Given the description of an element on the screen output the (x, y) to click on. 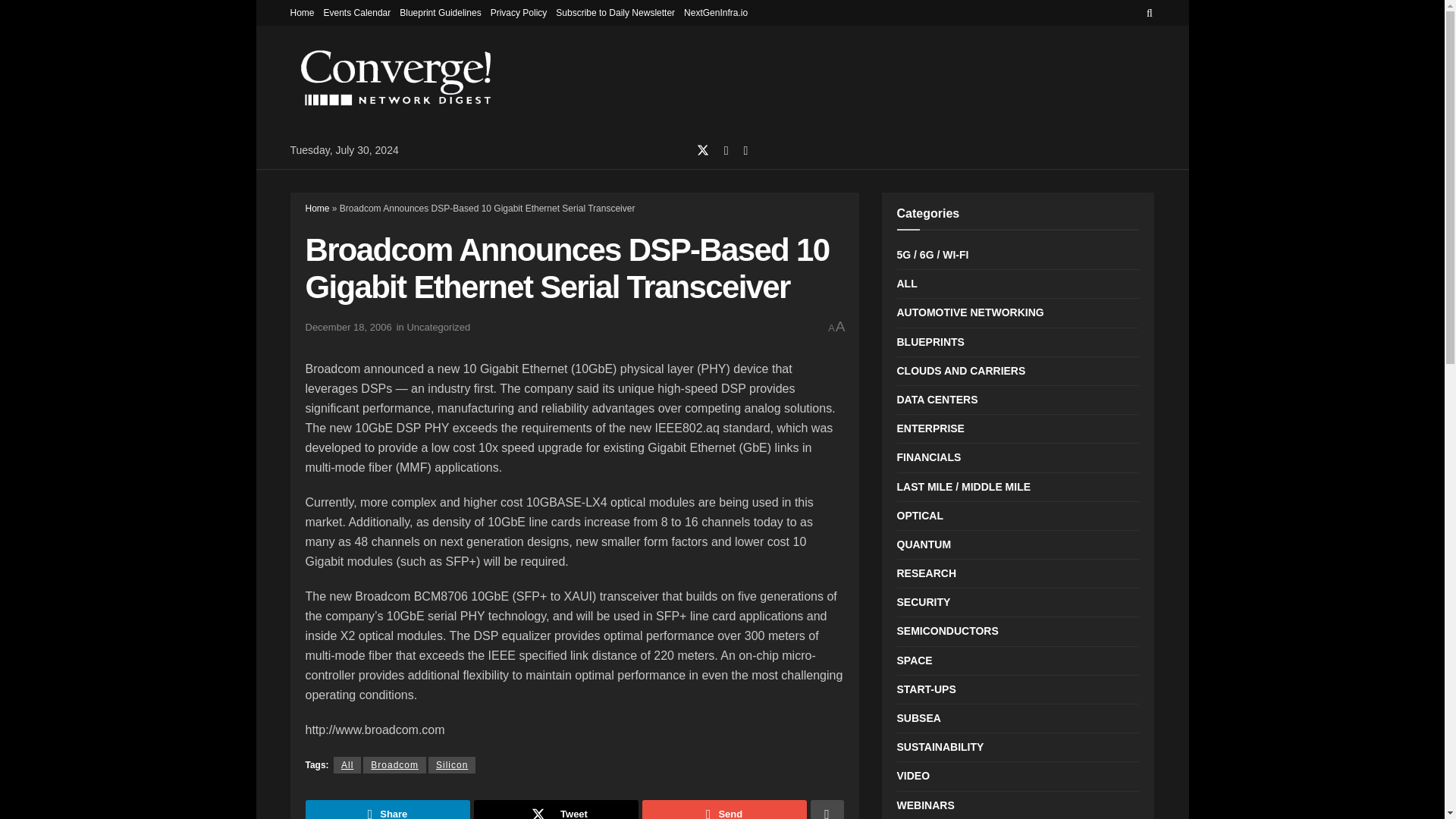
Tweet (555, 809)
Home (301, 12)
Privacy Policy (518, 12)
Share (386, 809)
Events Calendar (357, 12)
All (347, 764)
Broadcom (394, 764)
Subscribe to Daily Newsletter (615, 12)
Send (724, 809)
Blueprint Guidelines (439, 12)
NextGenInfra.io (716, 12)
Silicon (452, 764)
Home (316, 208)
December 18, 2006 (347, 326)
